Given the description of an element on the screen output the (x, y) to click on. 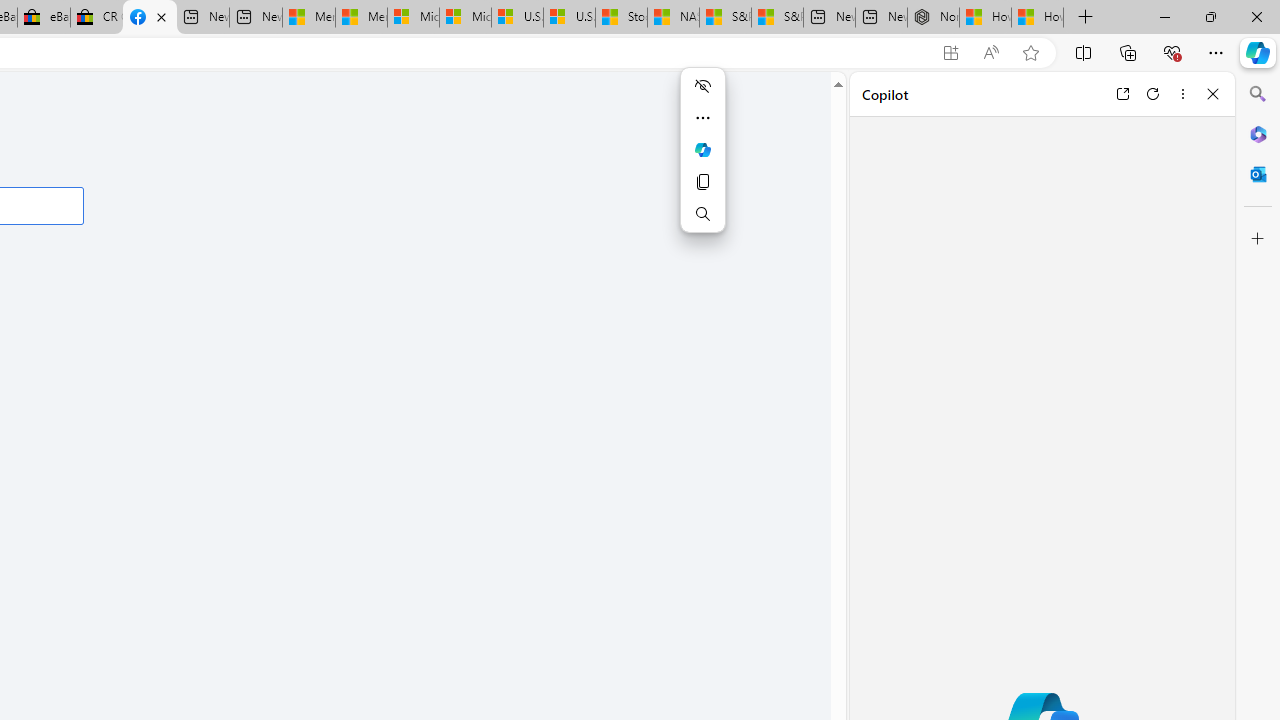
Copy (702, 182)
More actions (702, 117)
Customize (1258, 239)
